Given the description of an element on the screen output the (x, y) to click on. 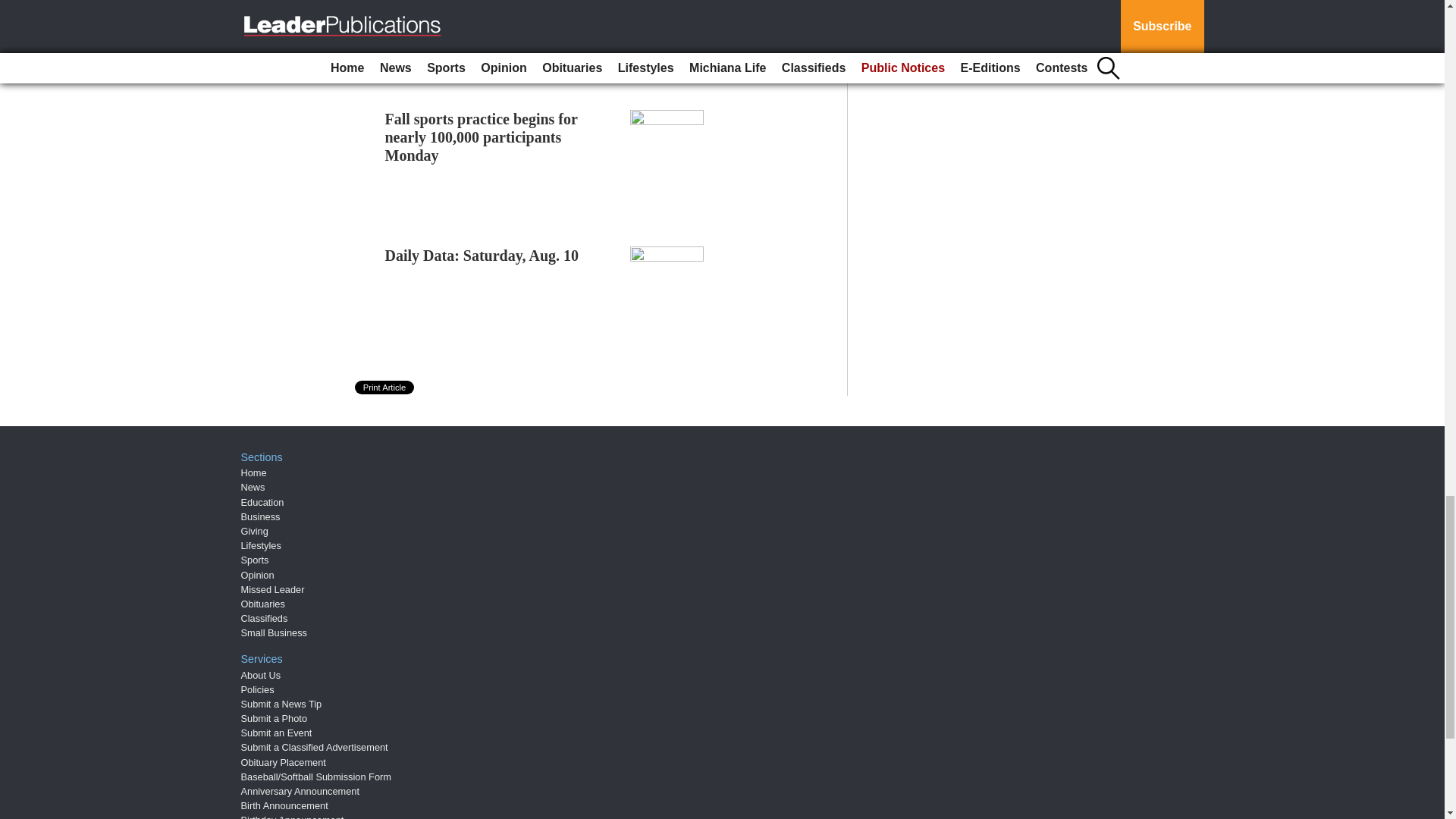
VanDenBerg Tournament to be played at two sites (486, 5)
Daily Data: Saturday, Aug. 10 (482, 255)
Daily Data: Saturday, Aug. 10 (482, 255)
Home (253, 472)
VanDenBerg Tournament to be played at two sites (486, 5)
Print Article (384, 386)
News (252, 487)
